Given the description of an element on the screen output the (x, y) to click on. 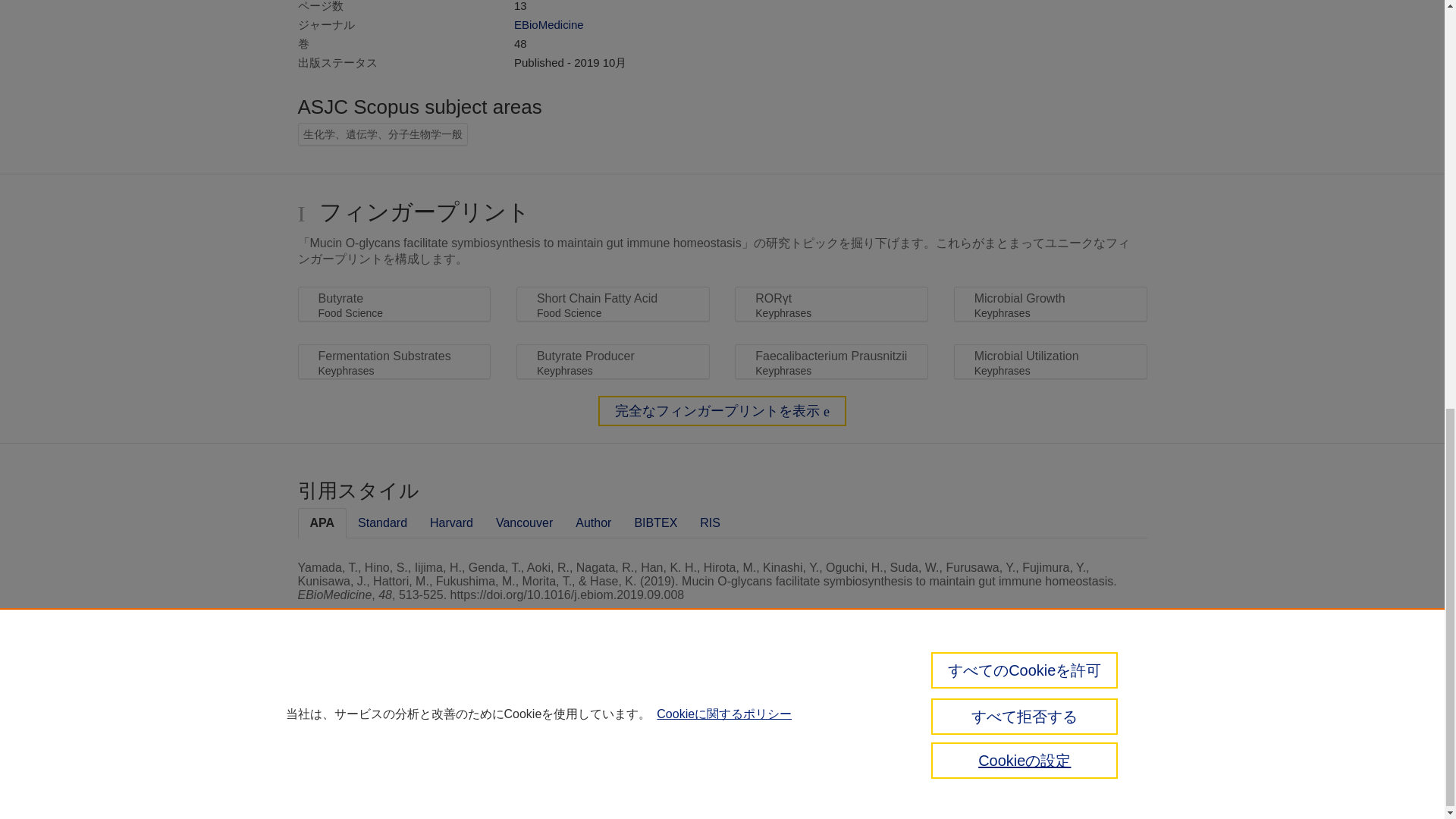
Pure (330, 701)
EBioMedicine (548, 24)
Scopus (362, 701)
Elsevier B.V. (545, 724)
